Given the description of an element on the screen output the (x, y) to click on. 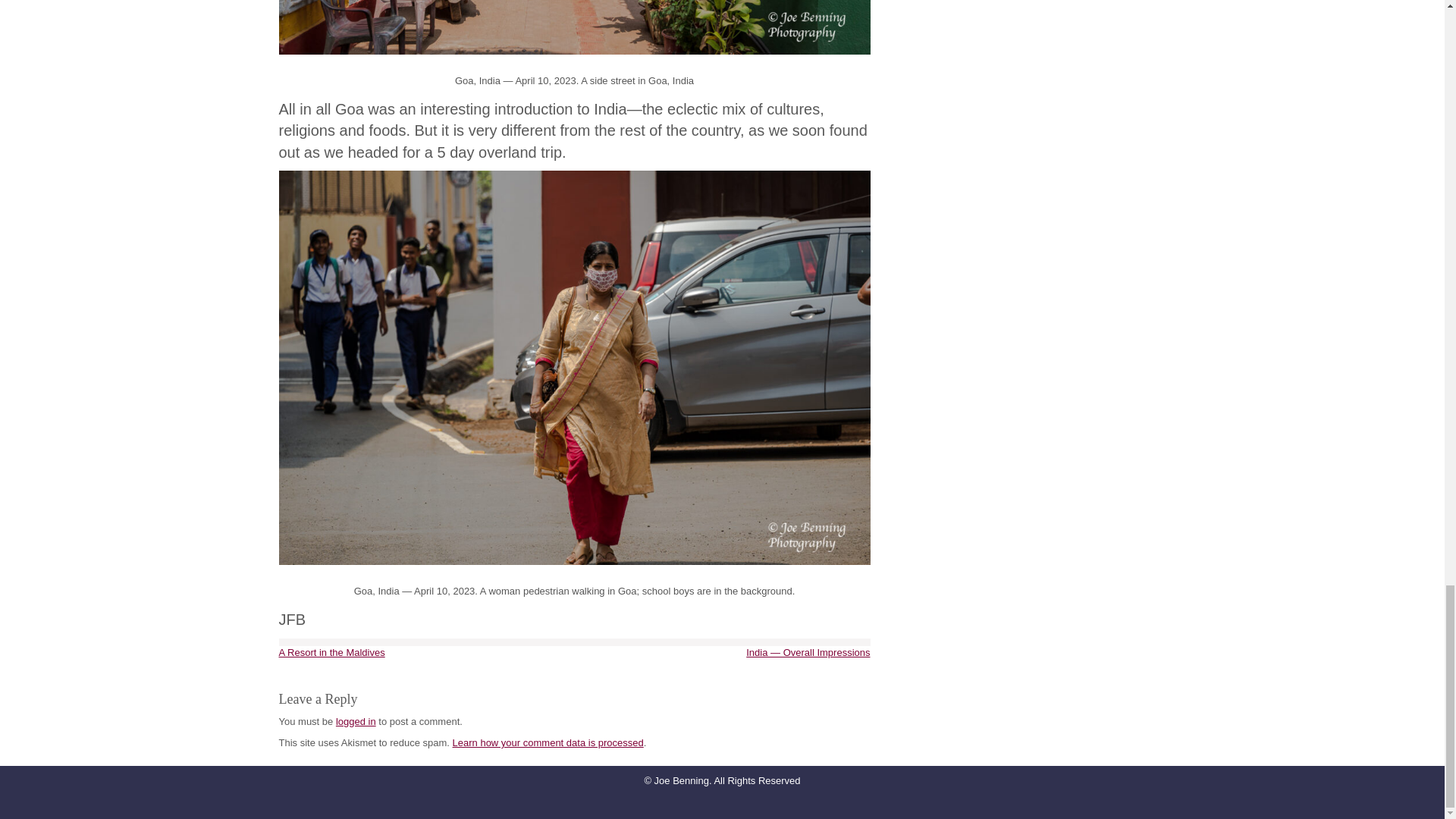
A Resort in the Maldives (332, 652)
Learn how your comment data is processed (547, 742)
logged in (355, 721)
